Given the description of an element on the screen output the (x, y) to click on. 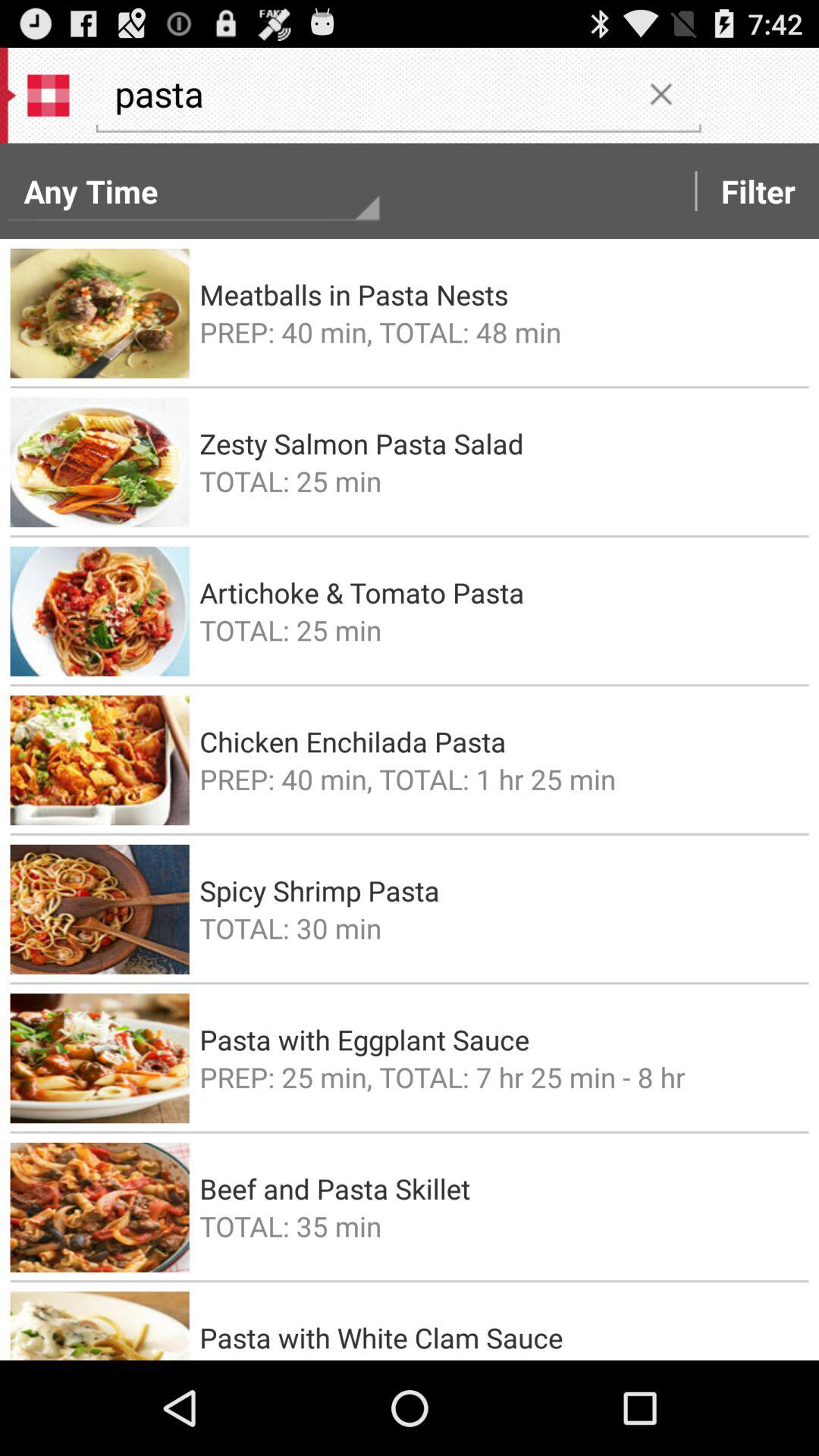
tap the item to the right of the pasta item (660, 93)
